Given the description of an element on the screen output the (x, y) to click on. 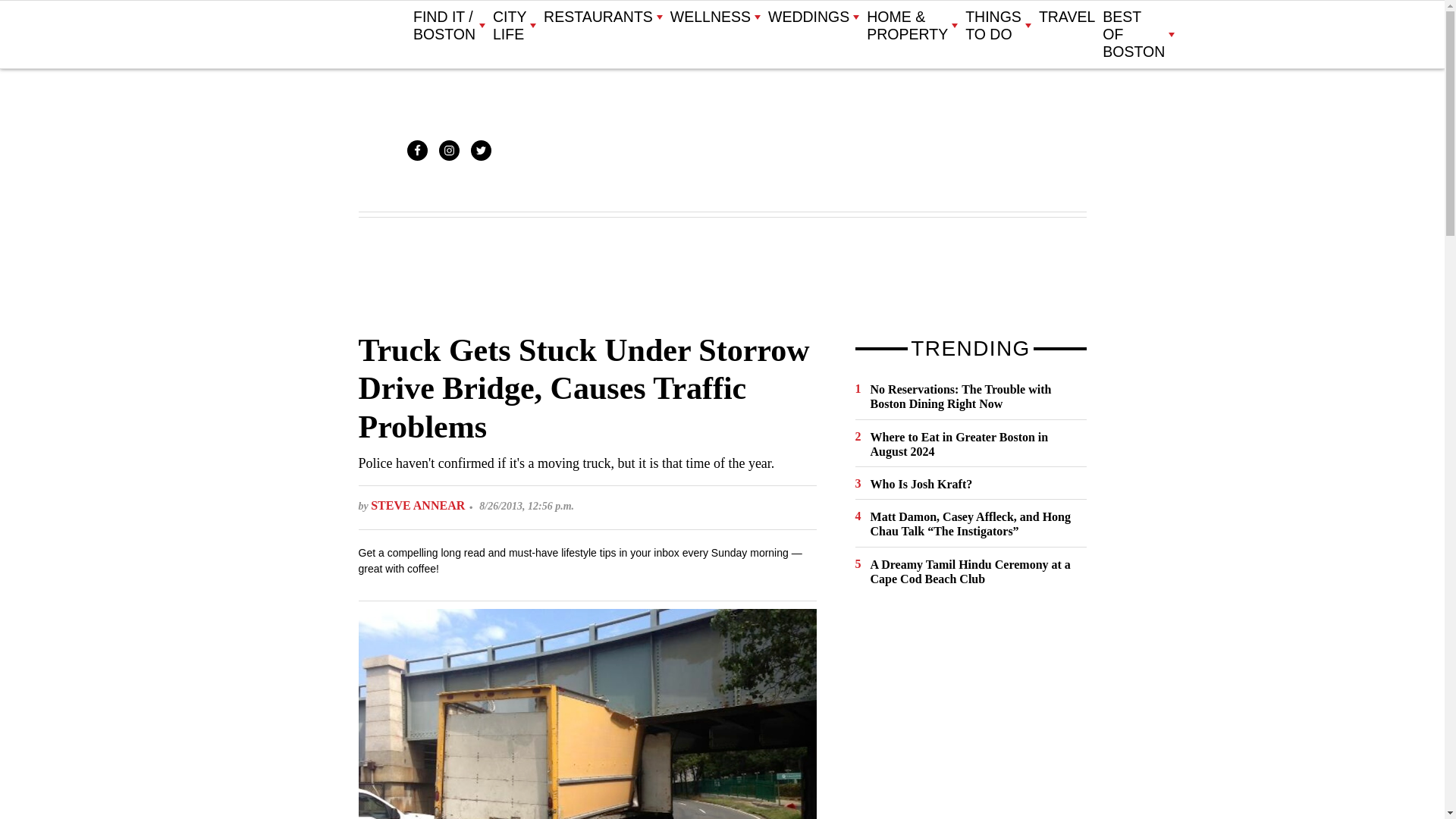
THINGS TO DO (997, 25)
RESTAURANTS (602, 16)
WEDDINGS (813, 16)
WELLNESS (714, 16)
